Given the description of an element on the screen output the (x, y) to click on. 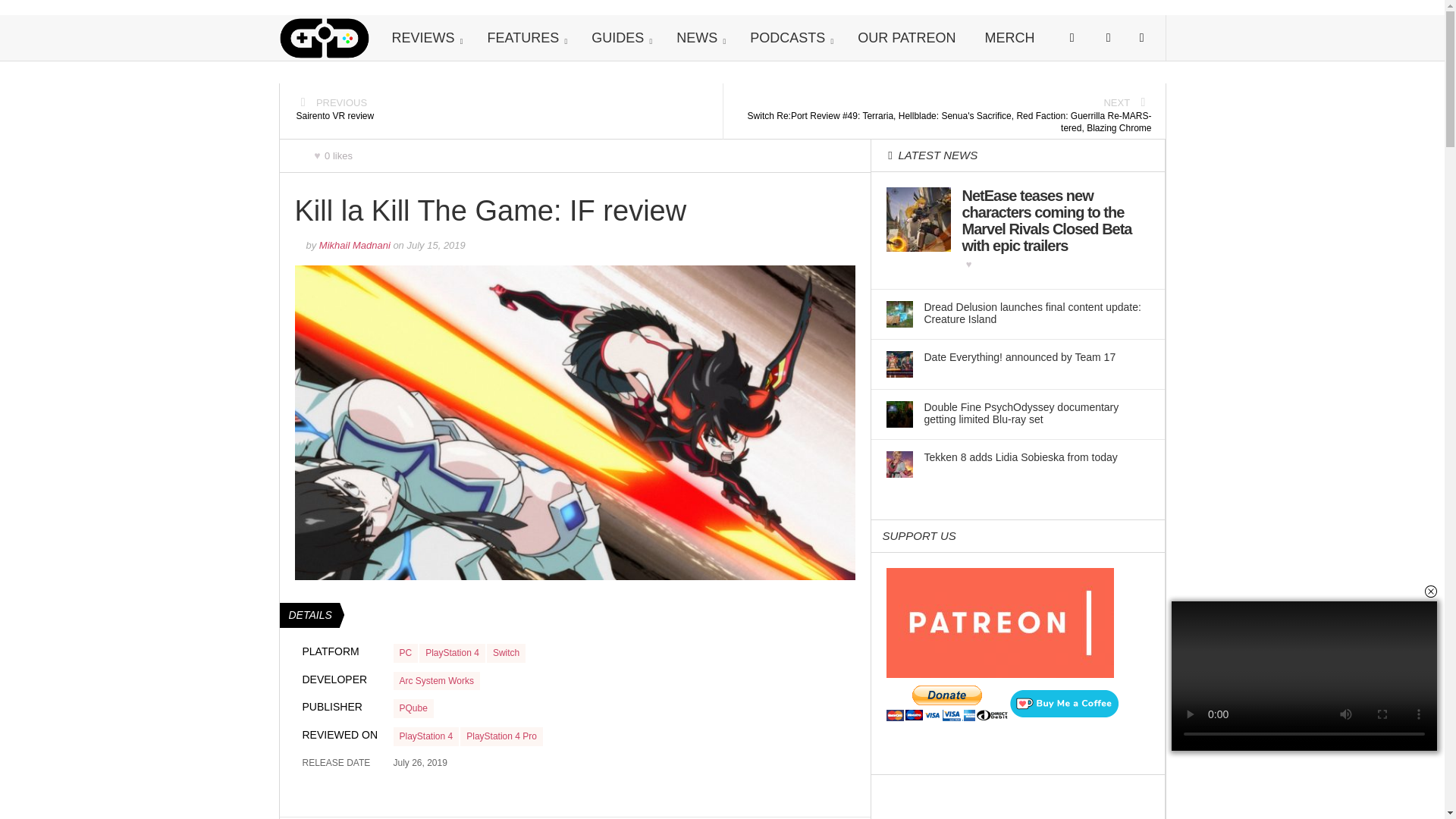
PODCASTS (789, 37)
FEATURES (525, 37)
NEWS (698, 37)
GUIDES (619, 37)
REVIEWS (425, 37)
